Given the description of an element on the screen output the (x, y) to click on. 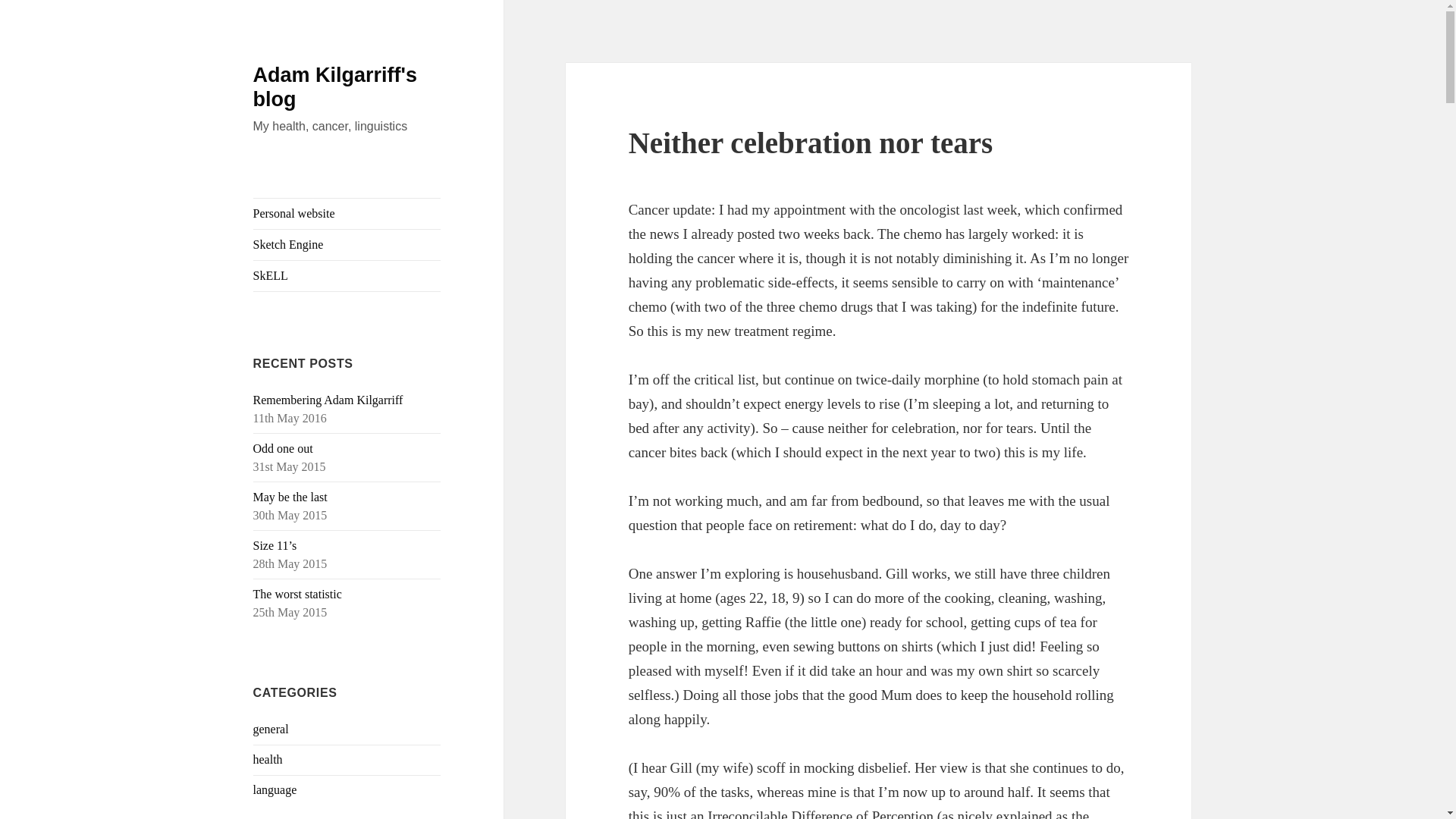
Remembering Adam Kilgarriff (328, 399)
May be the last (290, 496)
general (270, 728)
Odd one out (283, 448)
The worst statistic (297, 594)
SkELL (347, 276)
health (267, 758)
Personal website (347, 214)
language (275, 789)
Adam Kilgarriff's blog (334, 86)
